Given the description of an element on the screen output the (x, y) to click on. 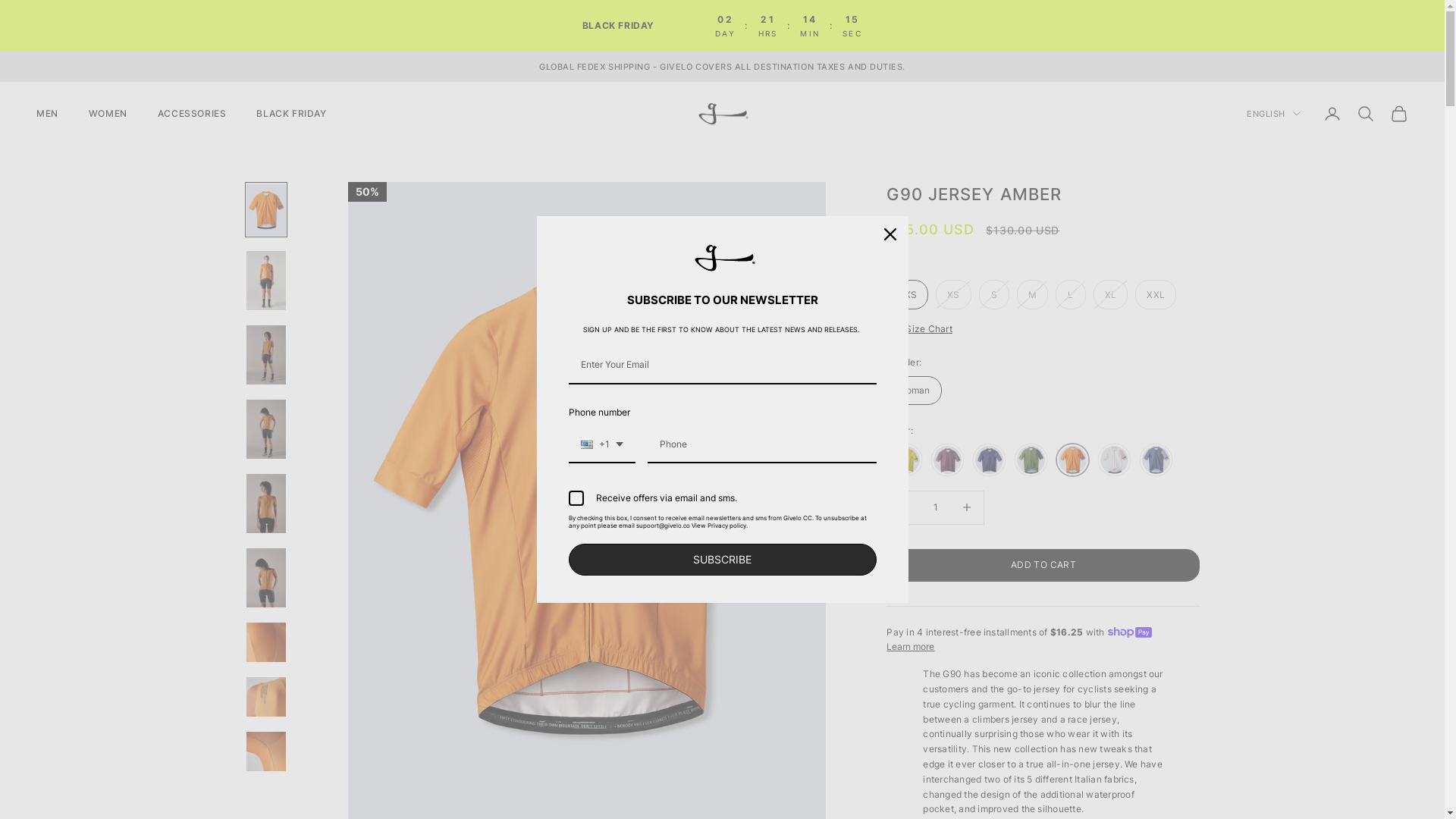
ADD TO CART Element type: text (1042, 565)
Open account page Element type: text (1332, 113)
Decrease quantity Element type: text (966, 507)
Decrease quantity Element type: text (903, 507)
SUBSCRIBE Element type: text (722, 559)
Open search Element type: text (1365, 113)
Open cart Element type: text (1399, 113)
Givelocc Element type: text (722, 113)
ENGLISH Element type: text (1273, 113)
